Given the description of an element on the screen output the (x, y) to click on. 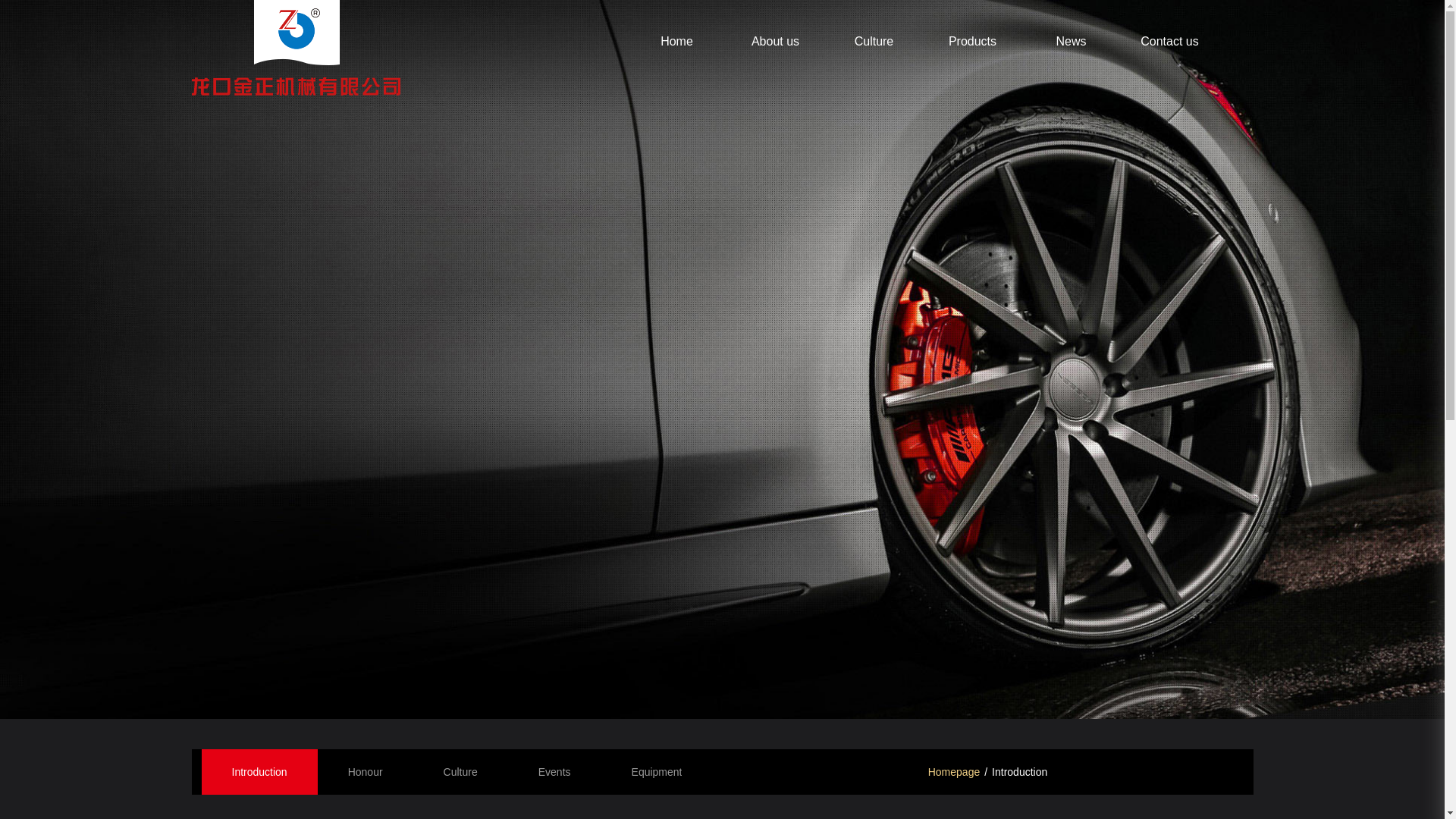
About us Element type: text (774, 41)
Home Element type: text (676, 41)
Introduction Element type: text (259, 771)
Products Element type: text (971, 41)
Culture Element type: text (460, 771)
Equipment Element type: text (656, 771)
Events Element type: text (554, 771)
imgboxbg Element type: hover (722, 359)
Contact us Element type: text (1169, 41)
Honour Element type: text (365, 771)
News Element type: text (1070, 41)
Homepage Element type: text (954, 771)
Culture Element type: text (873, 41)
